Given the description of an element on the screen output the (x, y) to click on. 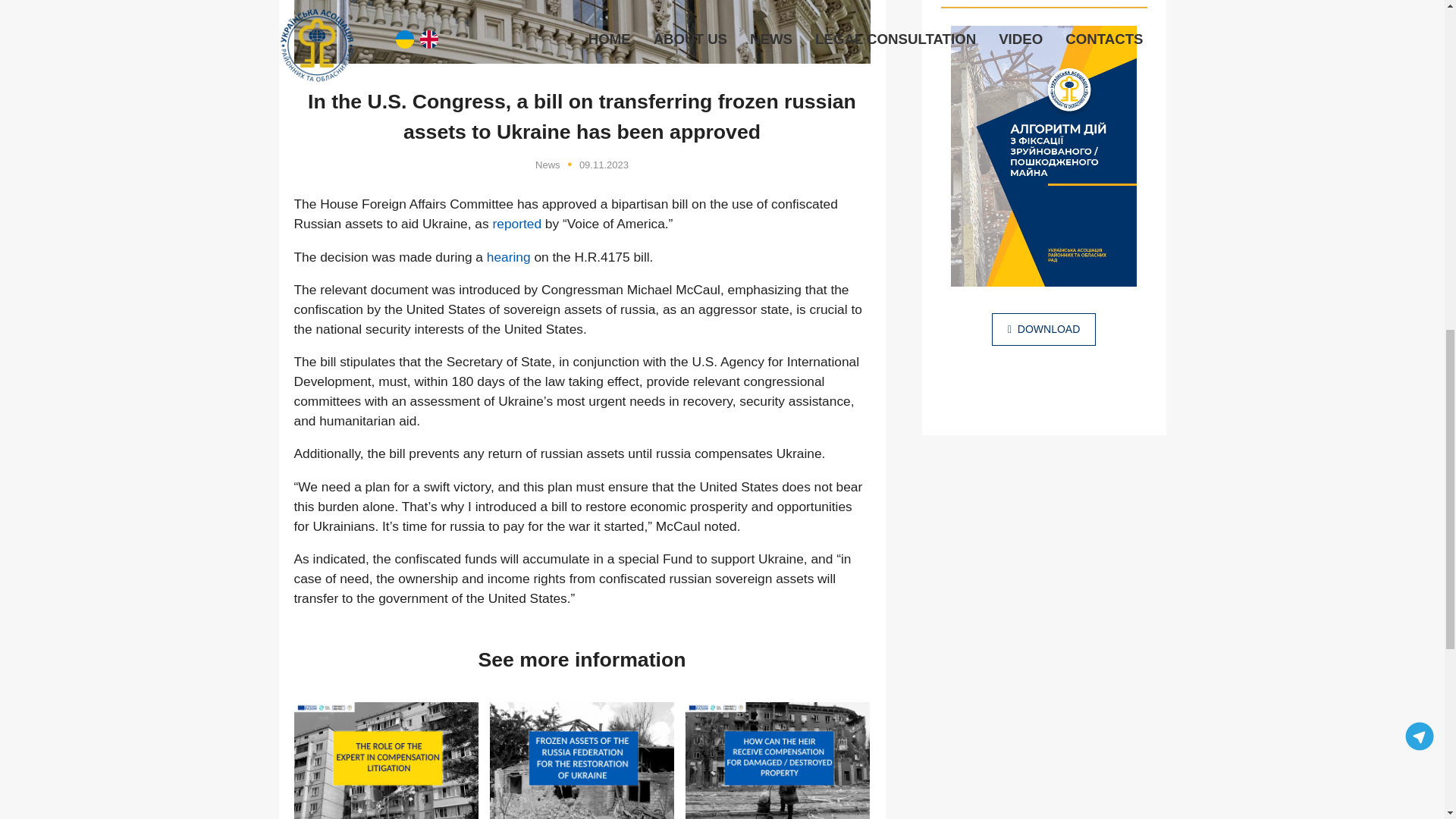
09.11.2023 (603, 164)
News (547, 164)
hearing (508, 256)
reported (516, 223)
  DOWNLOAD (1043, 328)
